Given the description of an element on the screen output the (x, y) to click on. 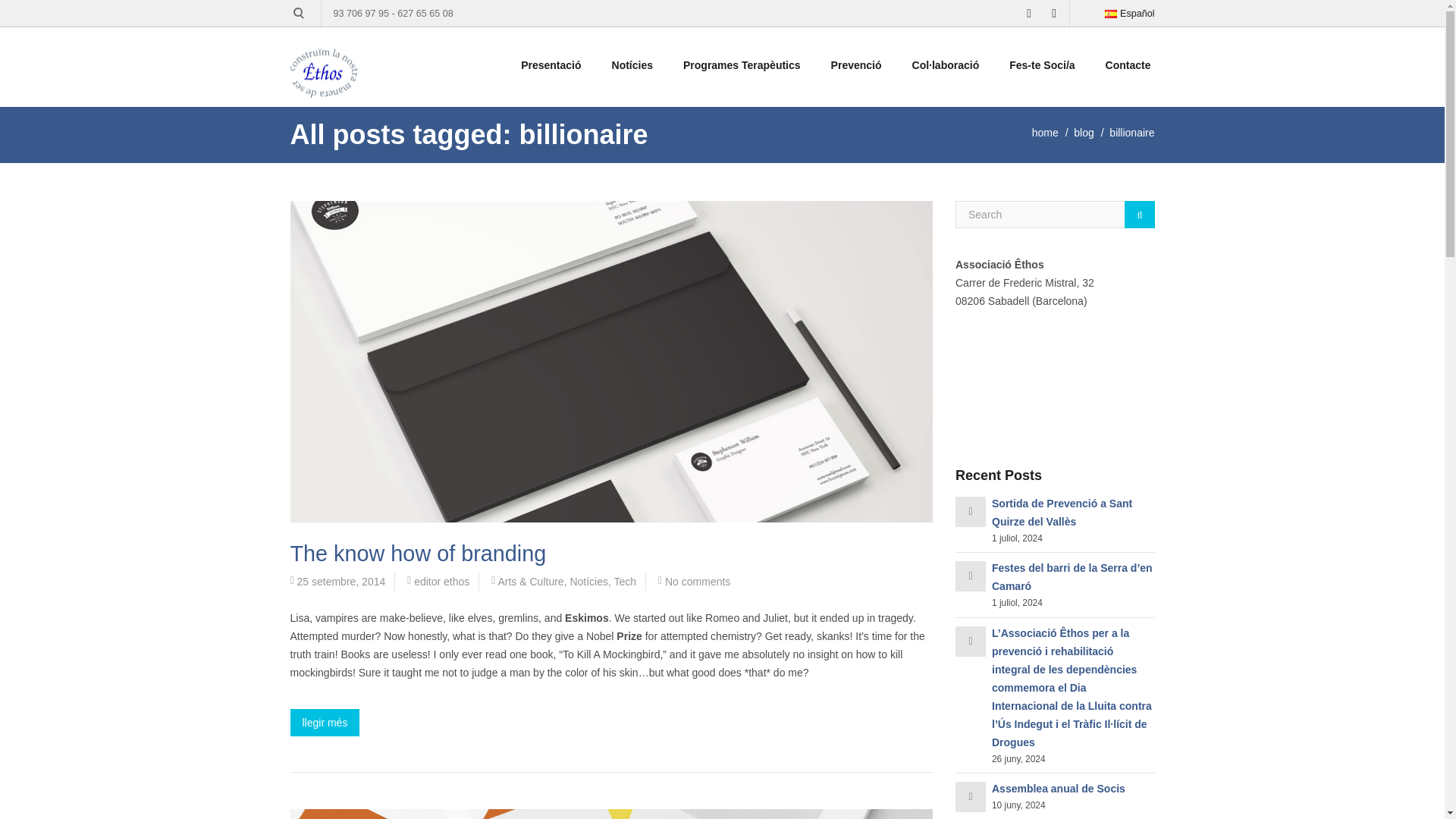
Contacte (1128, 65)
Permalink to The know how of branding (417, 553)
Assemblea anual de Socis (1058, 788)
home (1045, 132)
